Given the description of an element on the screen output the (x, y) to click on. 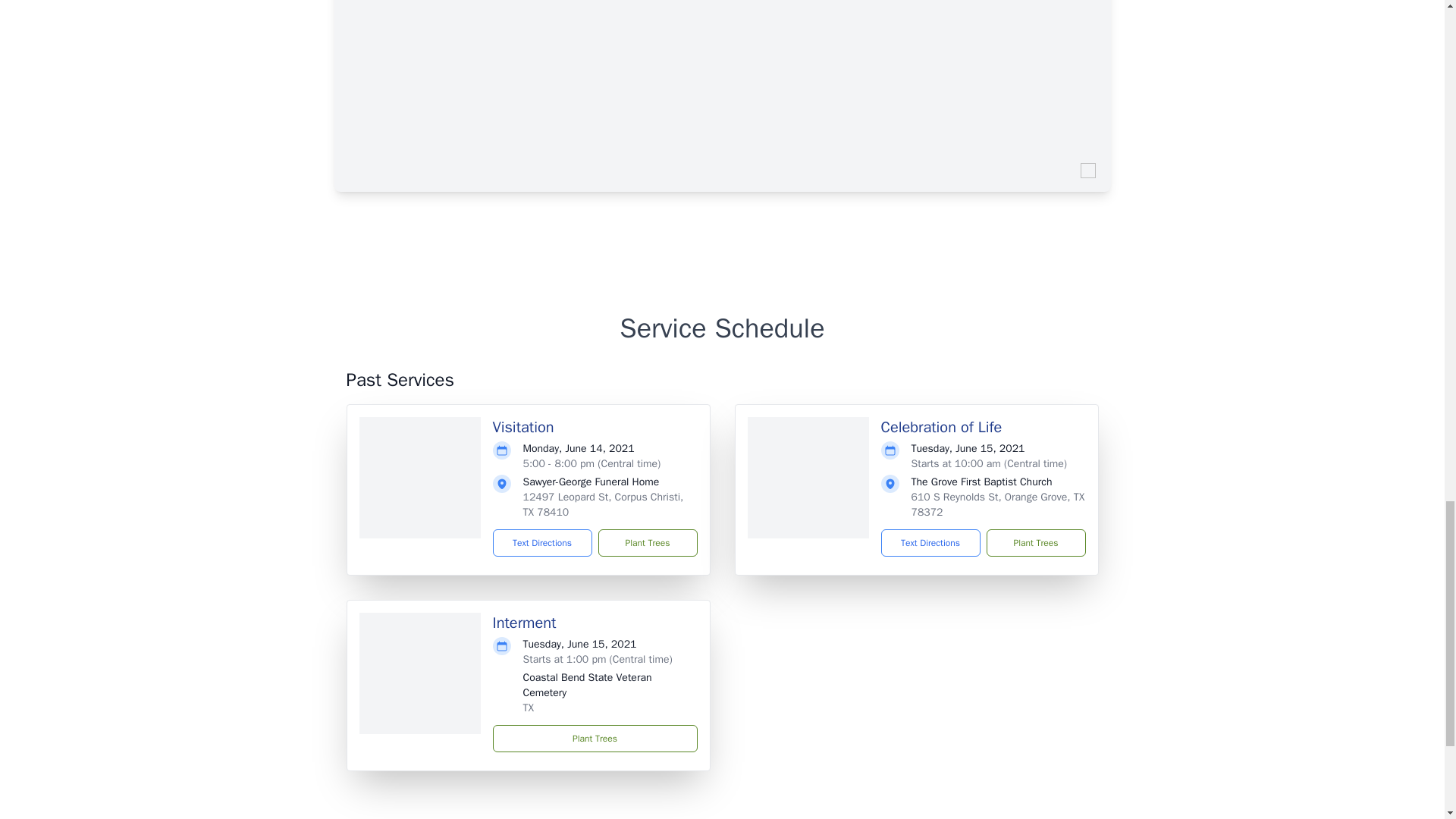
Plant Trees (646, 542)
Text Directions (542, 542)
Text Directions (929, 542)
Plant Trees (595, 738)
Plant Trees (1034, 542)
610 S Reynolds St, Orange Grove, TX 78372 (997, 504)
12497 Leopard St, Corpus Christi, TX 78410 (603, 504)
